Given the description of an element on the screen output the (x, y) to click on. 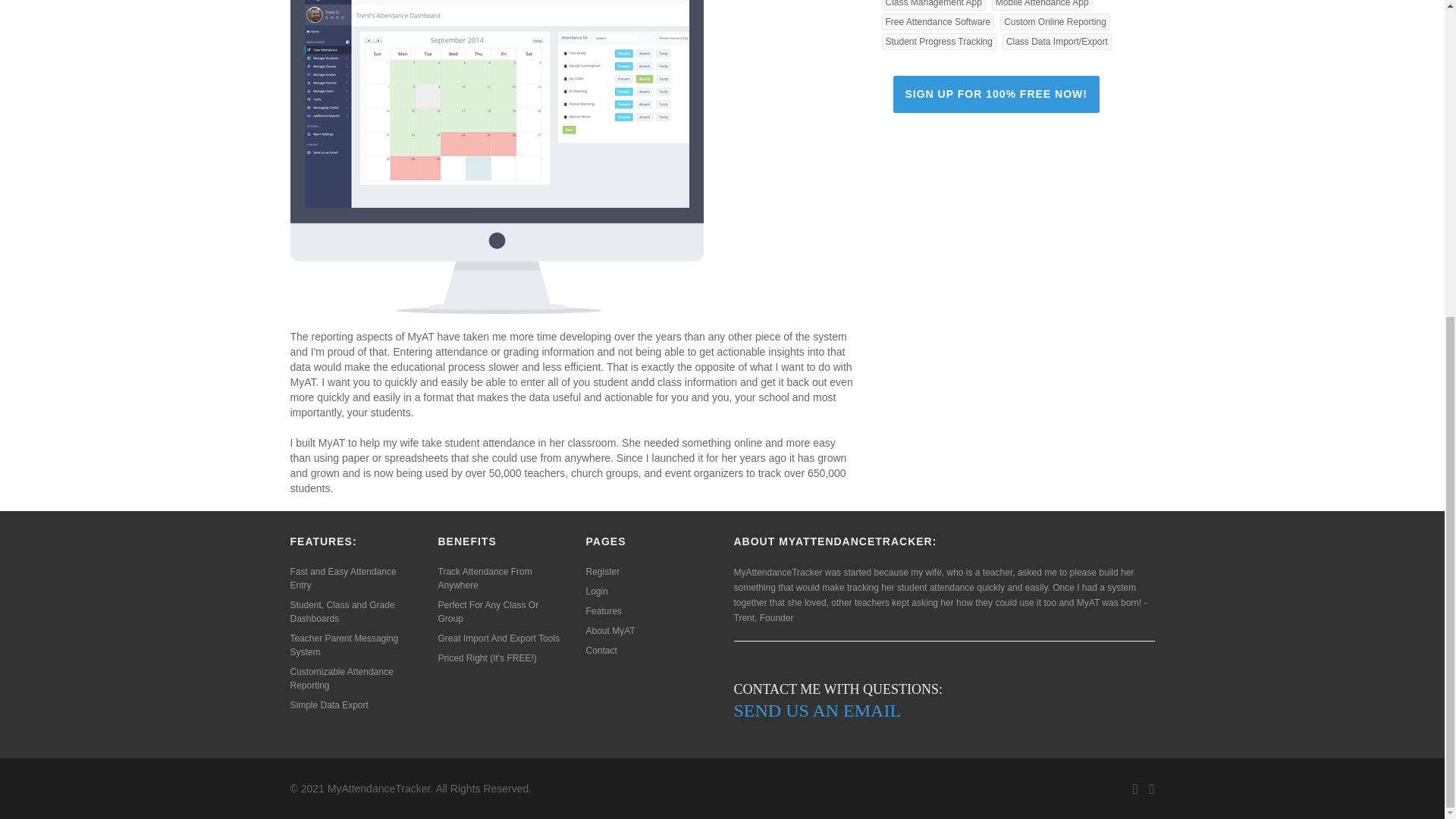
Student Progress Tracking (937, 41)
Free Attendance Software (937, 21)
Mobile Attendance App (1042, 5)
Custom Online Reporting (1054, 21)
Class Management App (932, 5)
